Given the description of an element on the screen output the (x, y) to click on. 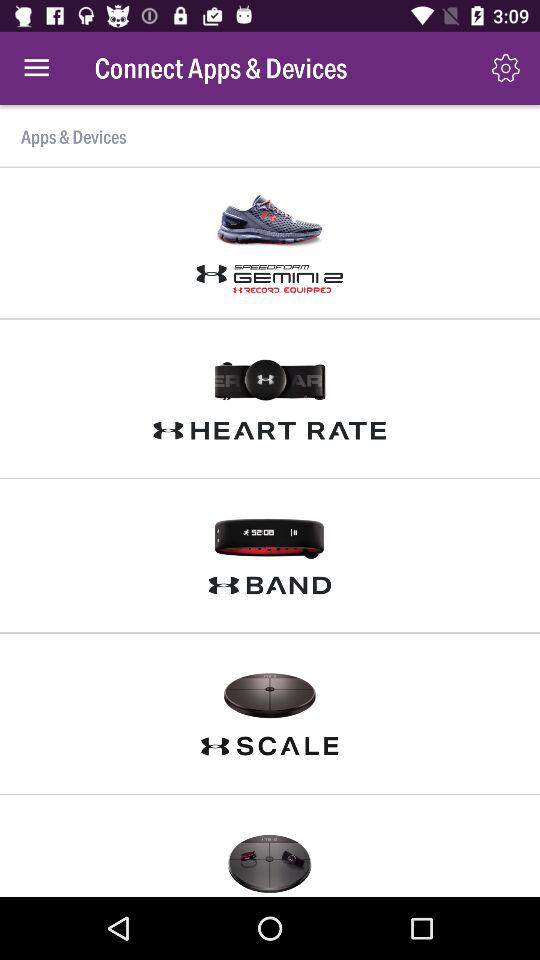
press the icon to the left of connect apps & devices (36, 68)
